Given the description of an element on the screen output the (x, y) to click on. 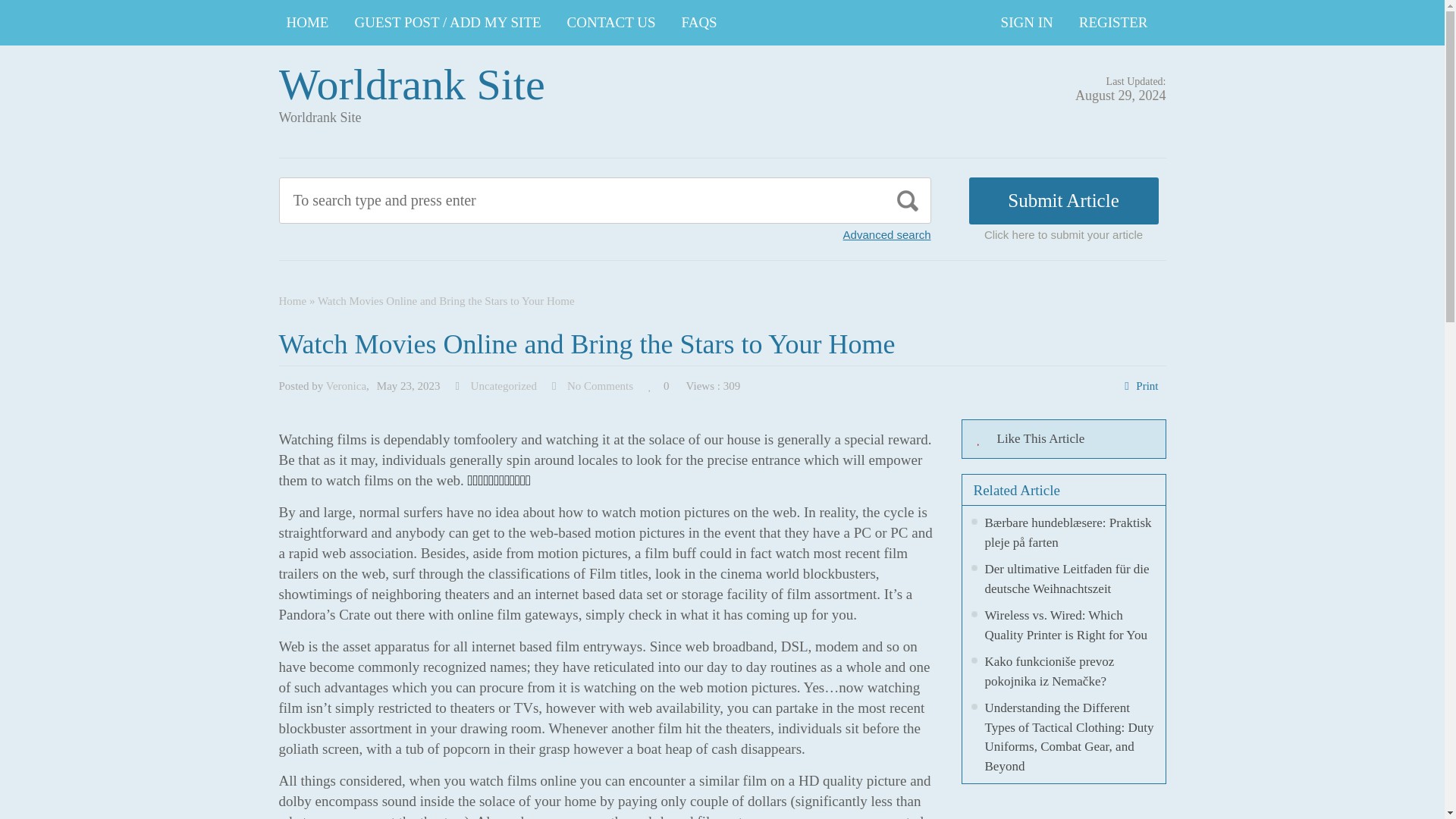
SIGN IN (1026, 22)
Print (1146, 386)
To search type and press enter (535, 200)
HOME (307, 22)
Submit Article (1063, 200)
No Comments (600, 386)
Uncategorized (503, 386)
CONTACT US (611, 22)
Veronica (346, 386)
